Given the description of an element on the screen output the (x, y) to click on. 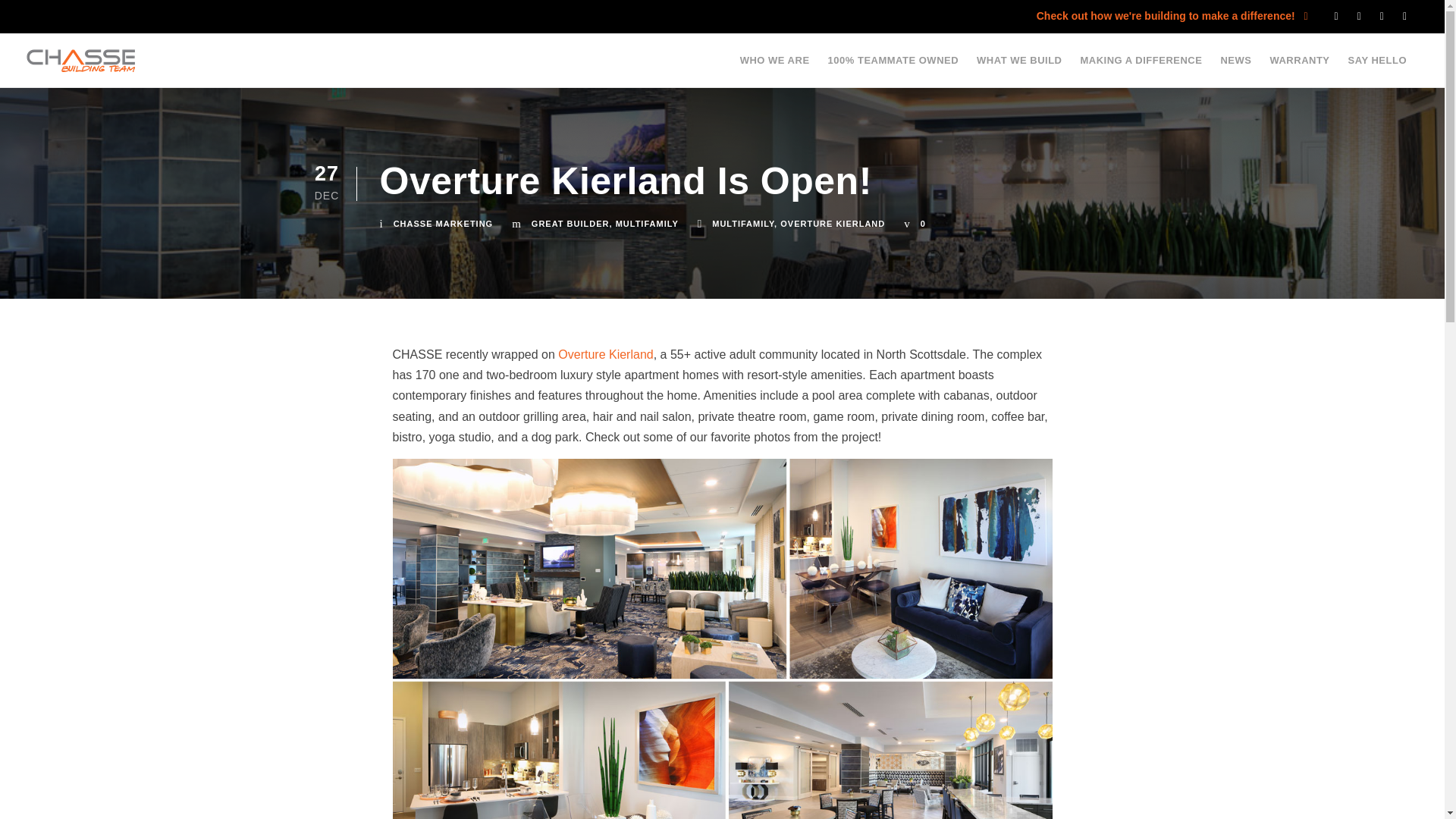
11.30.22-empowHER-Session-1.6 (620, 584)
Posts by CHASSE Marketing (443, 223)
What We Build (373, 677)
Overture Kierland (604, 354)
Meet Our Owners (381, 600)
SAY HELLO (1377, 64)
WHO WE ARE (774, 64)
Making A Difference (387, 562)
Warranty (357, 639)
Culture (352, 522)
CHASSE MARKETING (443, 223)
GREAT BUILDER (570, 223)
Screen Shot 2020-05-19 at 12.43.26 PM (620, 512)
OVERTURE KIERLAND (832, 223)
MULTIFAMILY (646, 223)
